Given the description of an element on the screen output the (x, y) to click on. 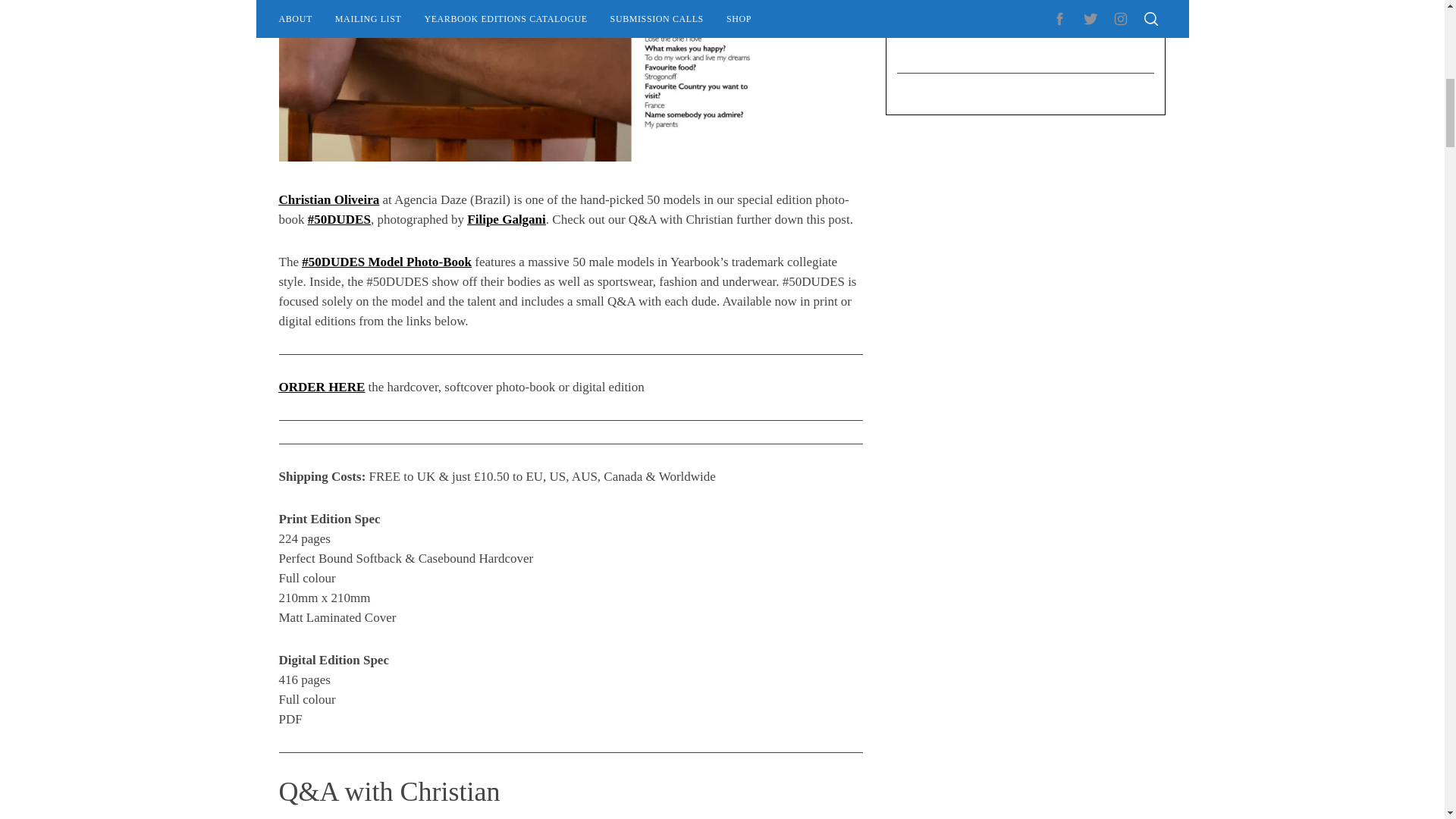
ORDER HERE (322, 386)
Christian Oliveira (329, 199)
Filipe Galgani (505, 219)
